Given the description of an element on the screen output the (x, y) to click on. 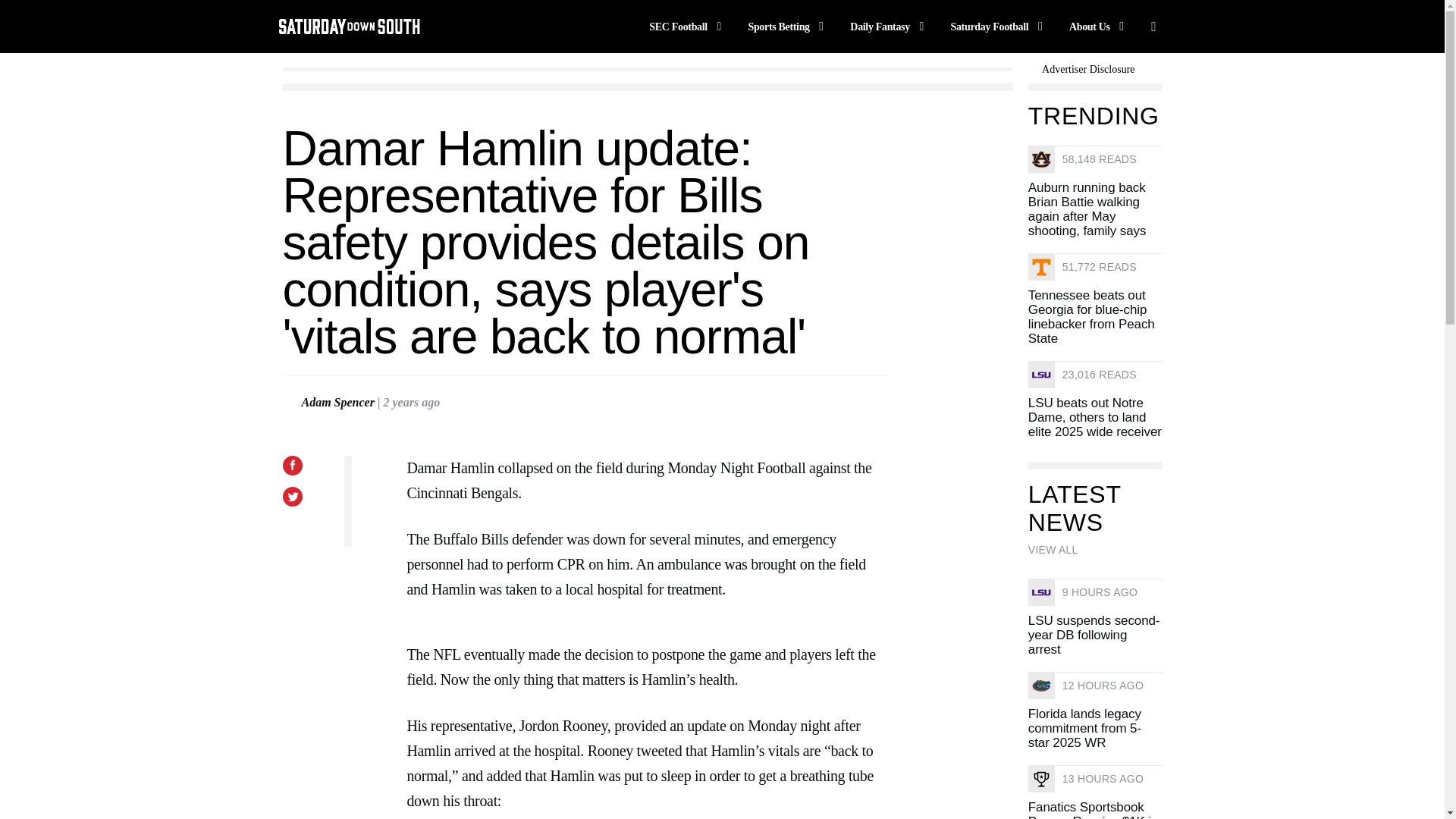
SEC Football (687, 26)
